Given the description of an element on the screen output the (x, y) to click on. 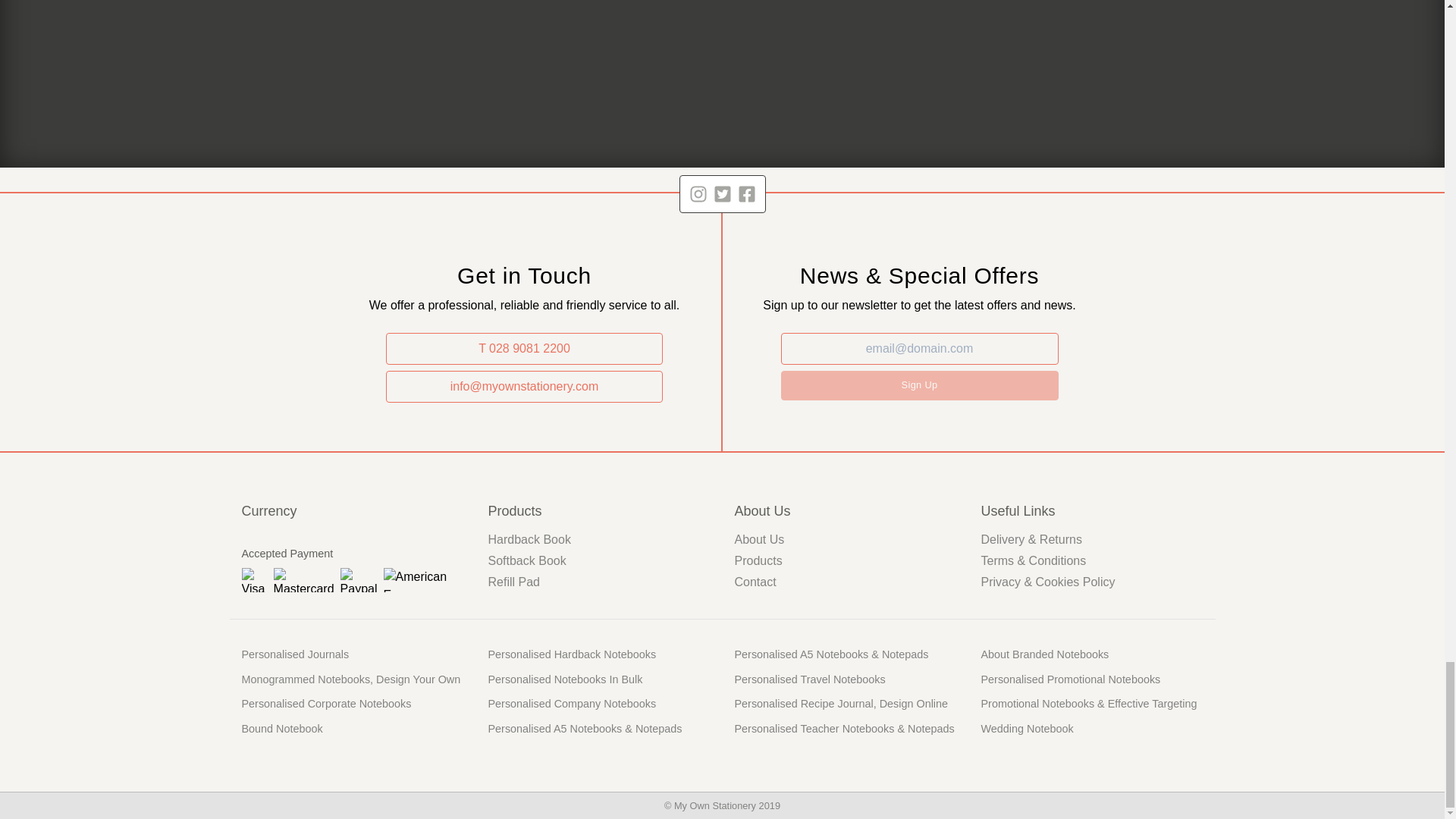
Products (757, 560)
Hardback Book (528, 539)
Refill Pad (513, 581)
Sign Up (919, 385)
Personalised Hardback Notebooks (571, 654)
Softback Book (526, 560)
About Us (758, 539)
About Branded Notebooks (1045, 654)
Contact (754, 581)
Personalised Journals (295, 654)
